Given the description of an element on the screen output the (x, y) to click on. 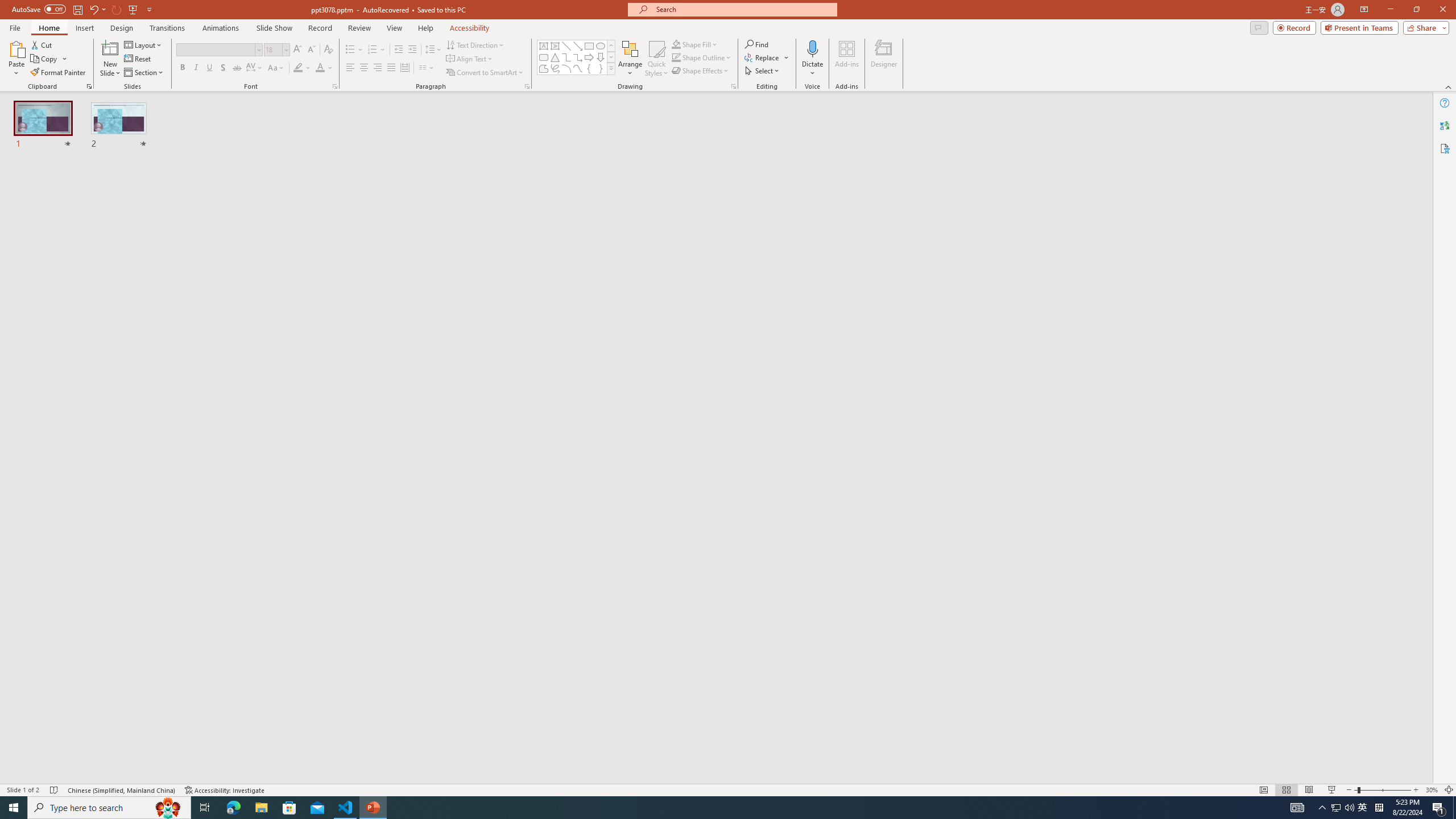
Arrow: Down (600, 57)
Strikethrough (237, 67)
Columns (426, 67)
Layout (143, 44)
Increase Font Size (297, 49)
